Given the description of an element on the screen output the (x, y) to click on. 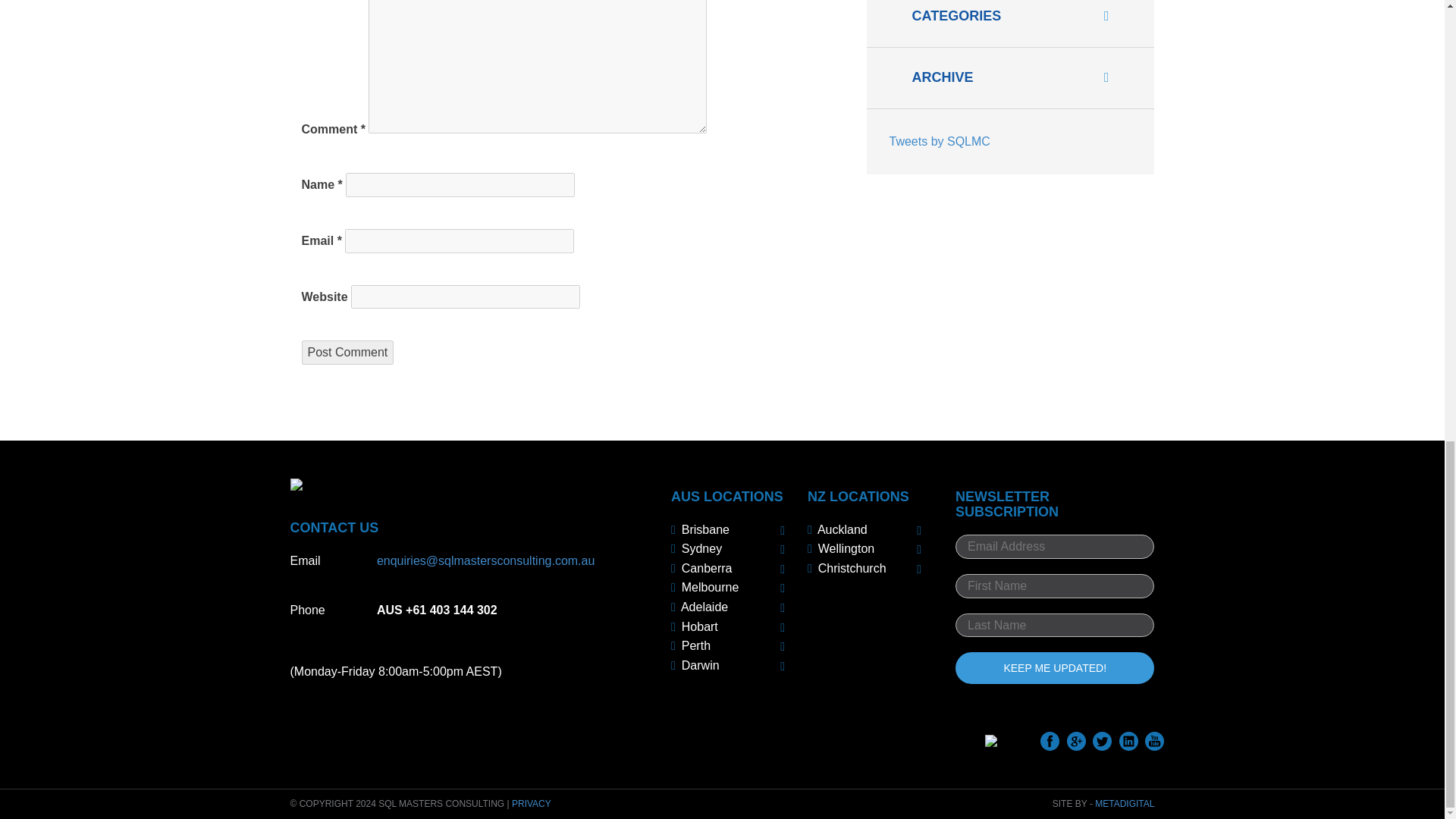
Post Comment (347, 352)
Keep me updated! (1054, 667)
